Given the description of an element on the screen output the (x, y) to click on. 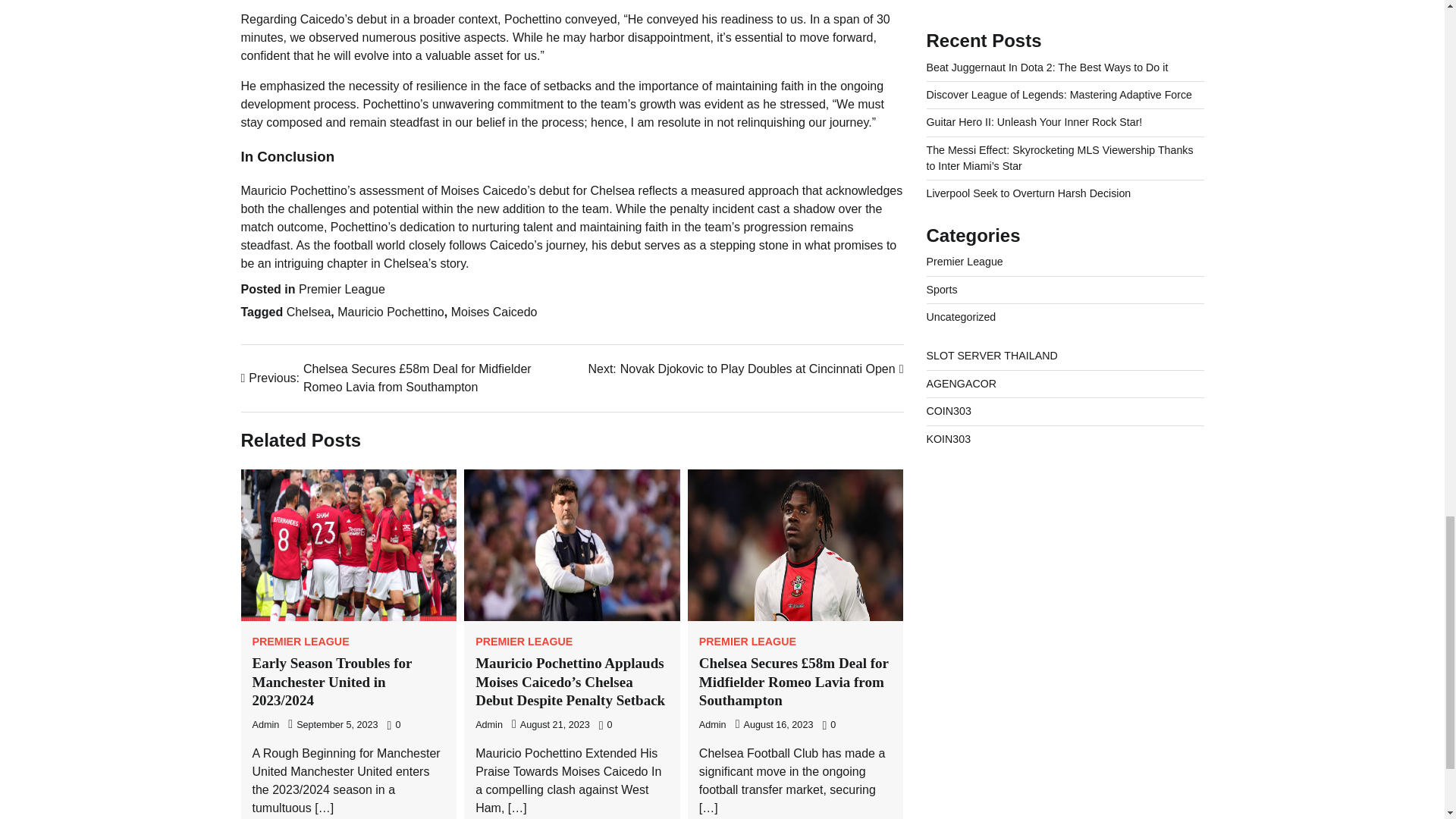
PREMIER LEAGUE (747, 641)
Moises Caicedo (494, 311)
PREMIER LEAGUE (524, 641)
PREMIER LEAGUE (300, 641)
Mauricio Pochettino (390, 311)
Premier League (341, 288)
Admin (489, 724)
Admin (712, 724)
Chelsea (308, 311)
Admin (745, 369)
